Given the description of an element on the screen output the (x, y) to click on. 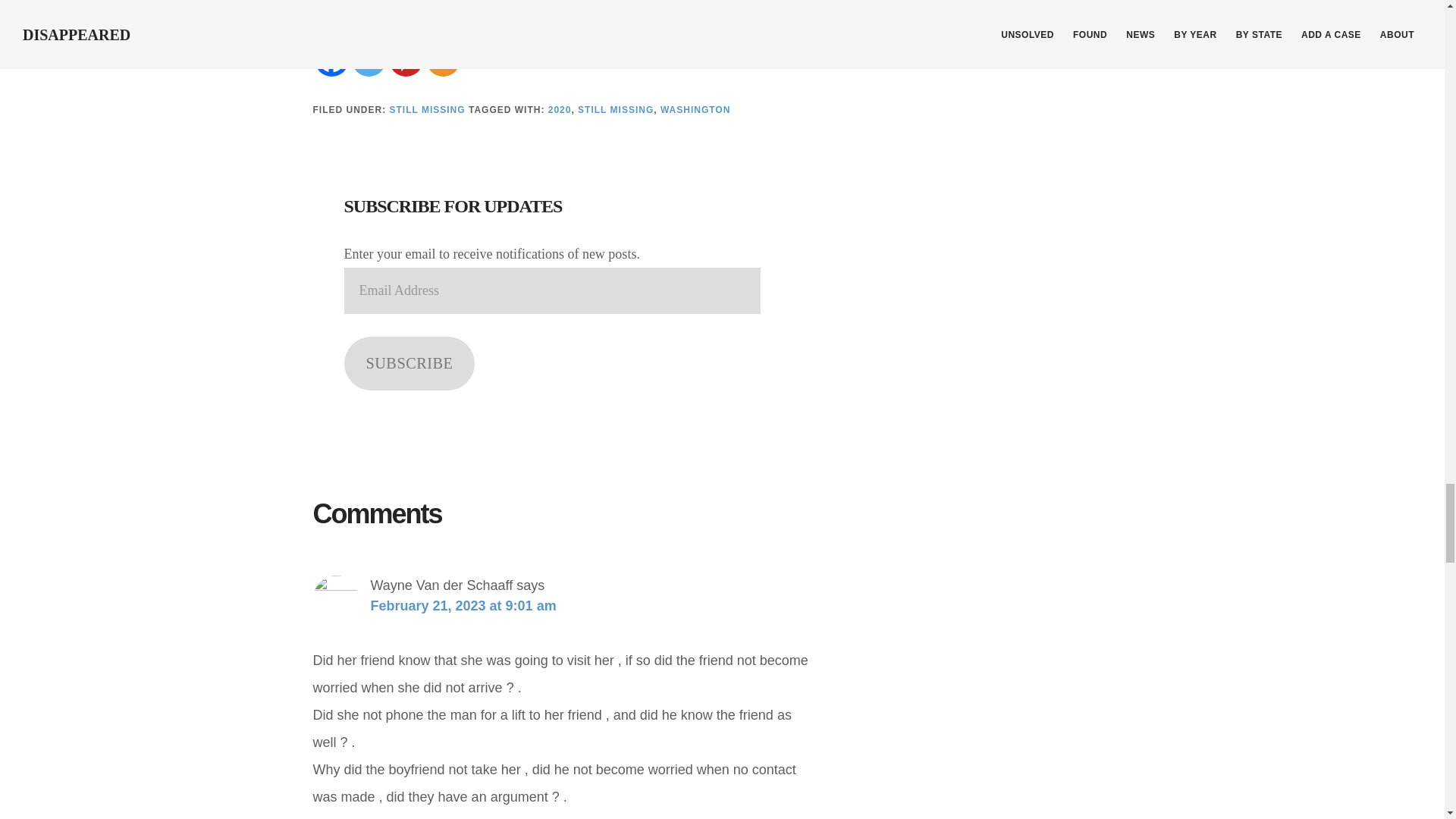
February 21, 2023 at 9:01 am (462, 605)
WASHINGTON (695, 109)
Twitter (368, 59)
More (443, 59)
Facebook (330, 59)
STILL MISSING (615, 109)
2020 (560, 109)
Pinterest (405, 59)
STILL MISSING (427, 109)
SUBSCRIBE (409, 363)
